Given the description of an element on the screen output the (x, y) to click on. 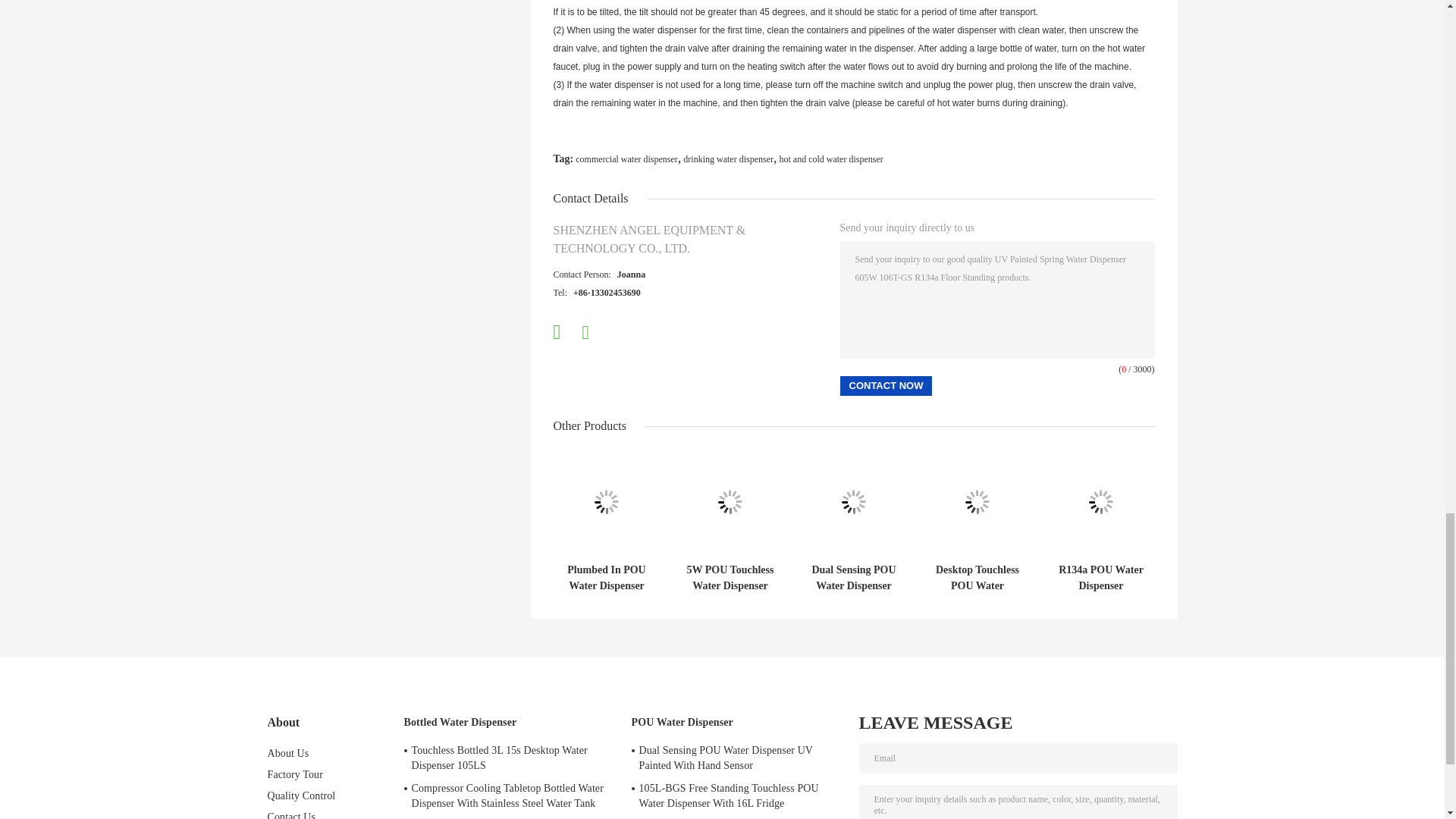
Contact Now (886, 385)
